Given the description of an element on the screen output the (x, y) to click on. 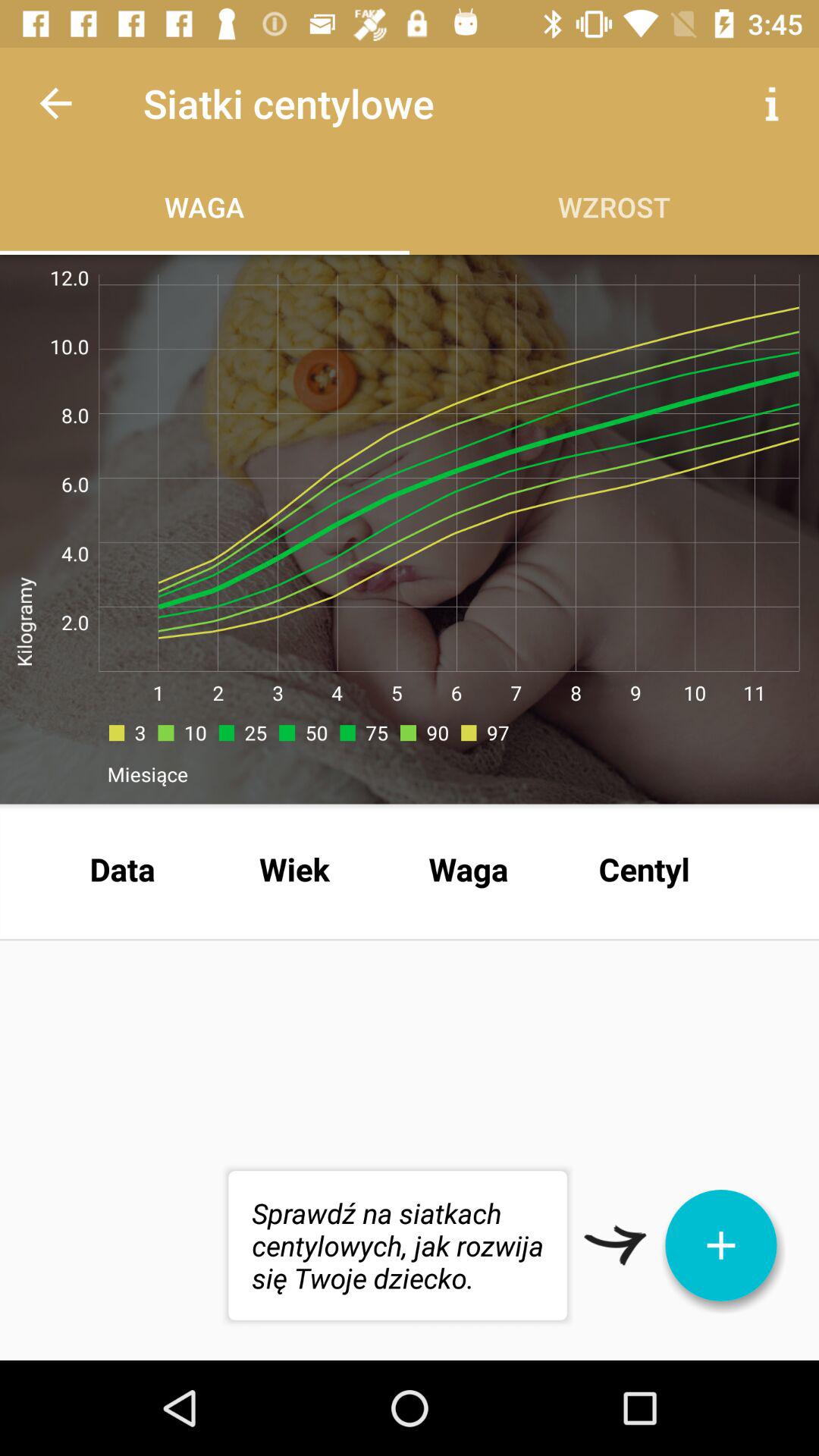
tap the app to the right of siatki centylowe app (771, 103)
